Given the description of an element on the screen output the (x, y) to click on. 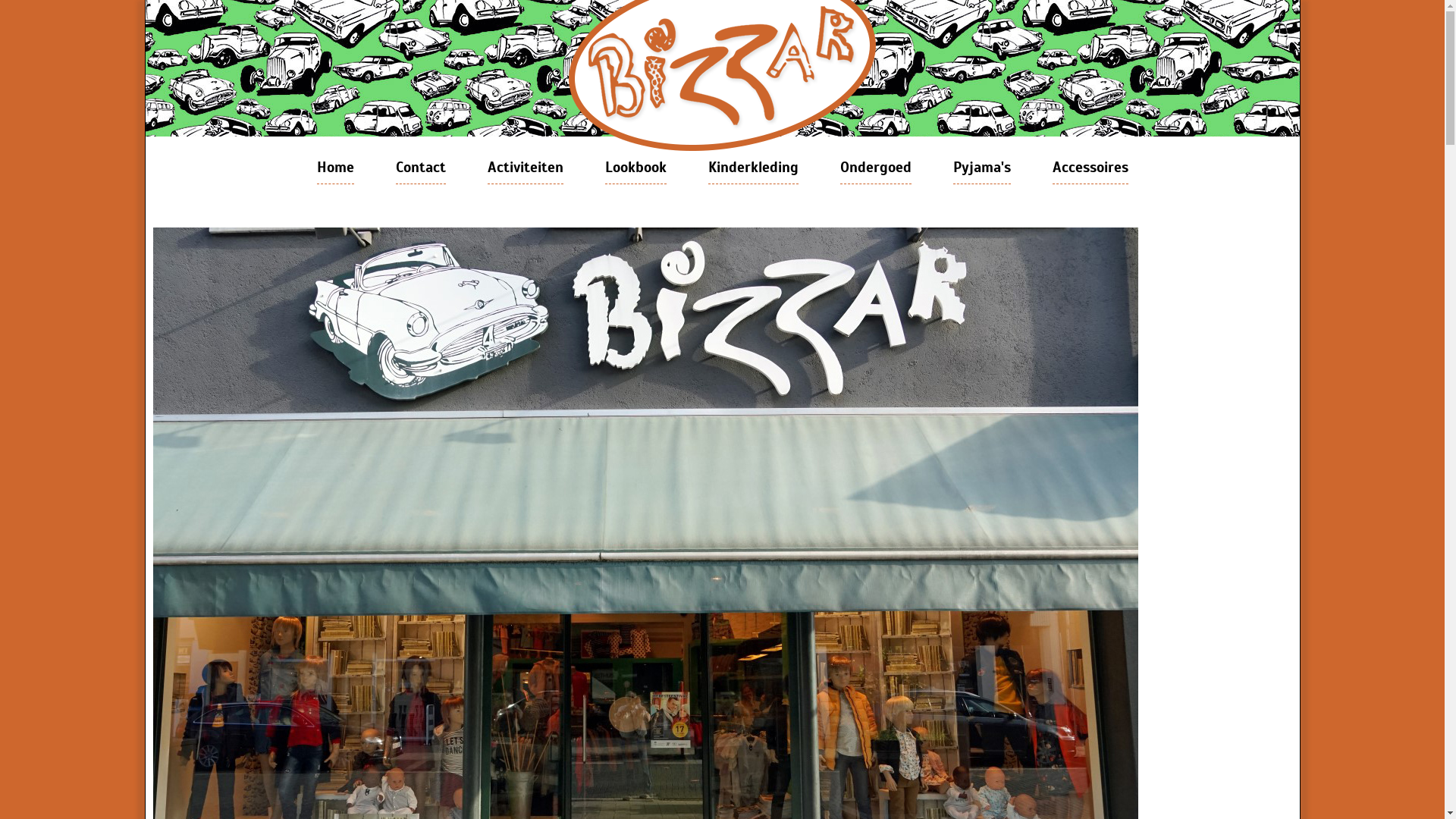
Activiteiten Element type: text (524, 167)
Kinderkleding Element type: text (753, 167)
Home Element type: text (335, 167)
Ondergoed Element type: text (875, 167)
Pyjama's Element type: text (981, 167)
Accessoires Element type: text (1090, 167)
Lookbook Element type: text (635, 167)
Contact Element type: text (420, 167)
